Given the description of an element on the screen output the (x, y) to click on. 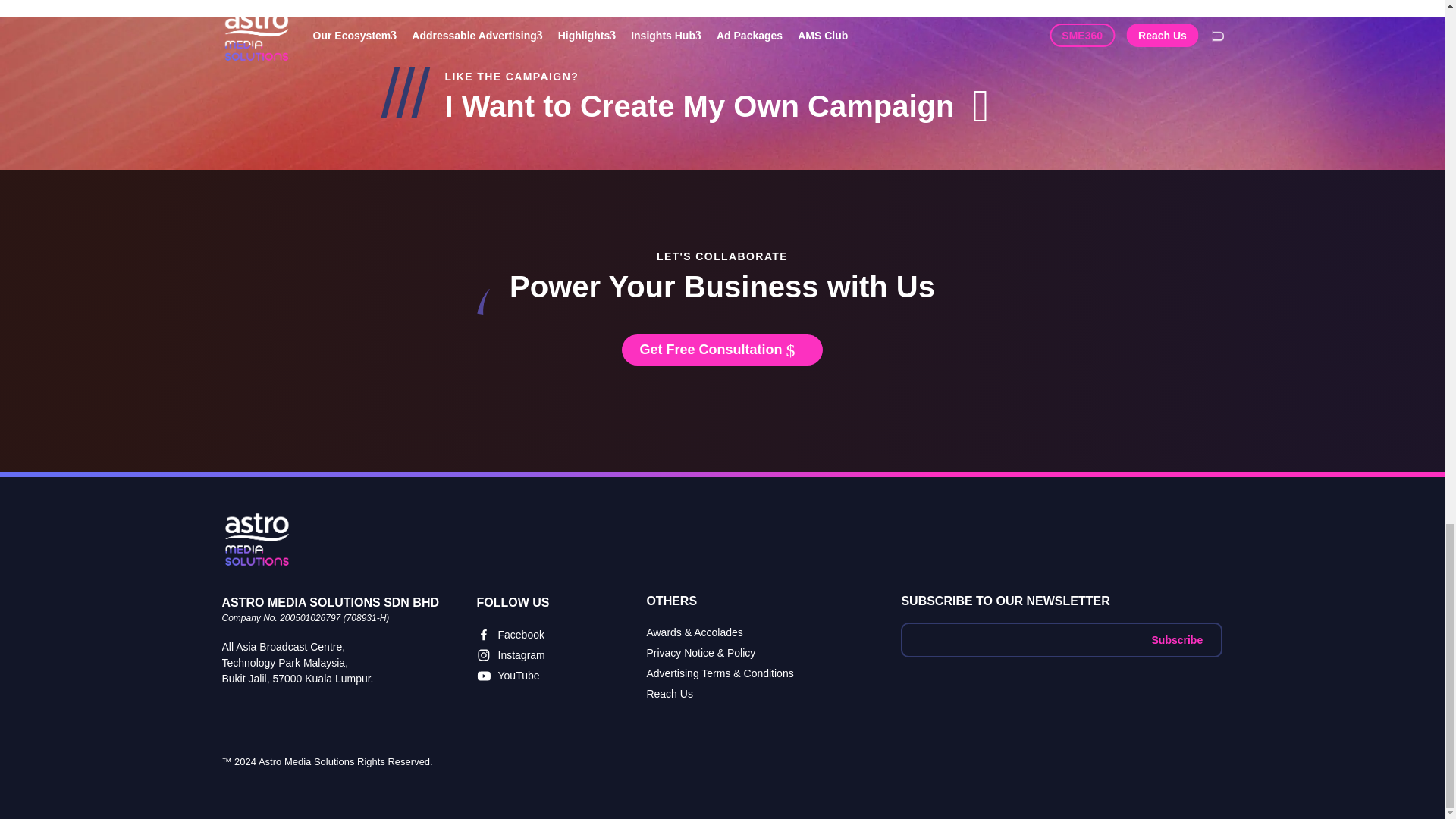
Subscribe (1177, 639)
